Given the description of an element on the screen output the (x, y) to click on. 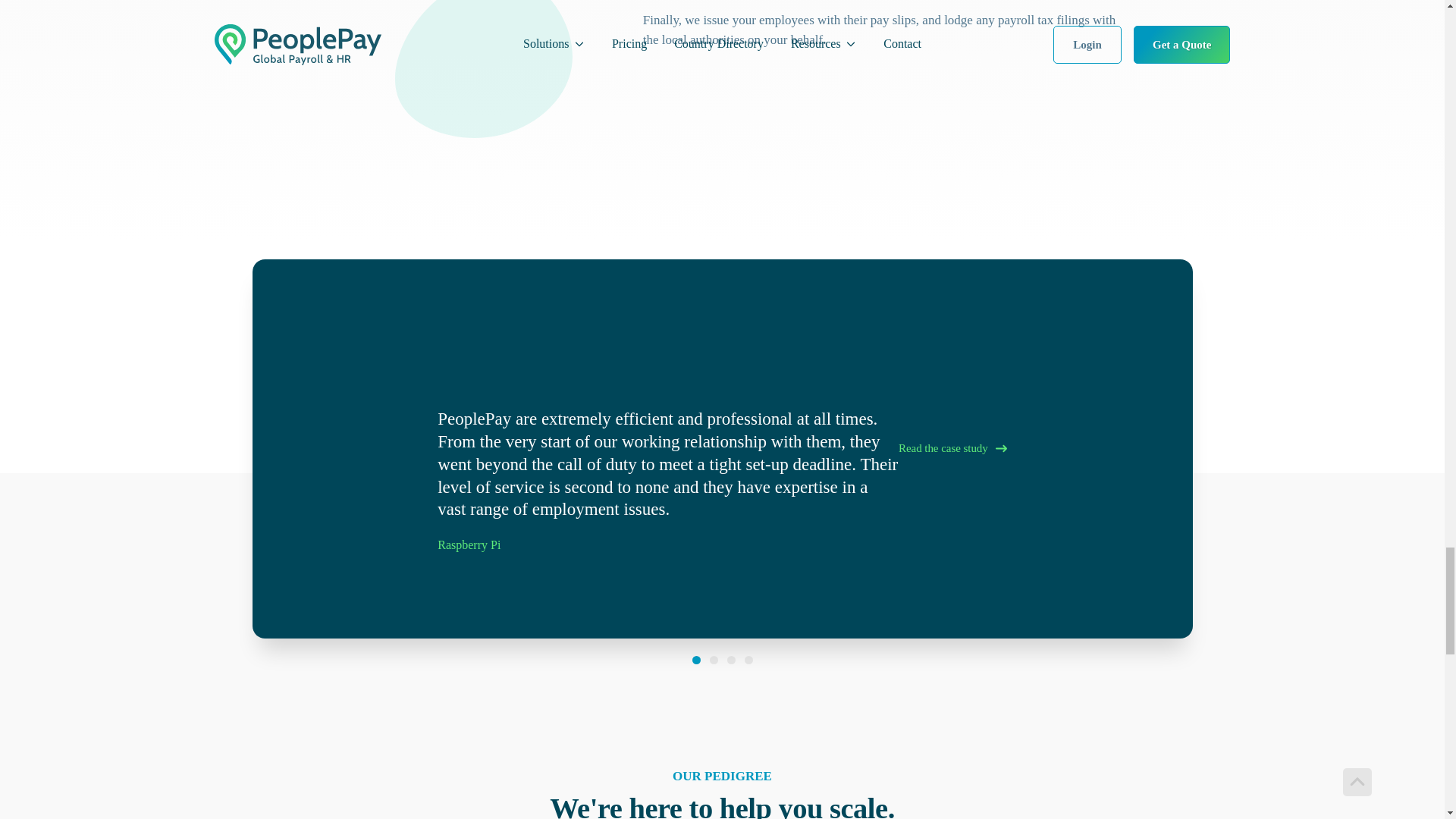
Read the case study (952, 448)
